Given the description of an element on the screen output the (x, y) to click on. 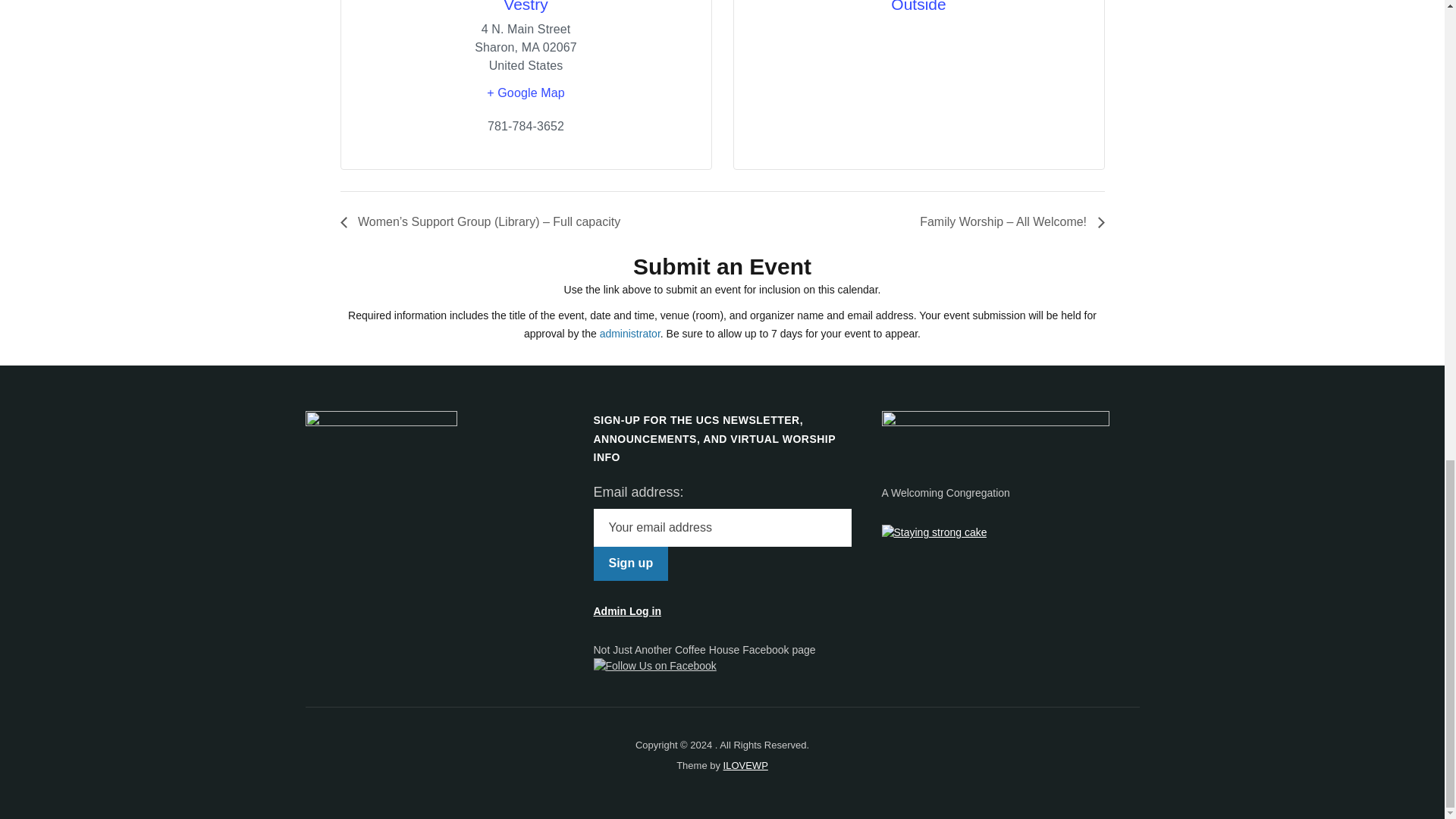
Outside (917, 6)
Sign up (630, 563)
Follow Us on Facebook (654, 666)
Click to view a Google Map (526, 93)
Massachusetts (529, 47)
